Given the description of an element on the screen output the (x, y) to click on. 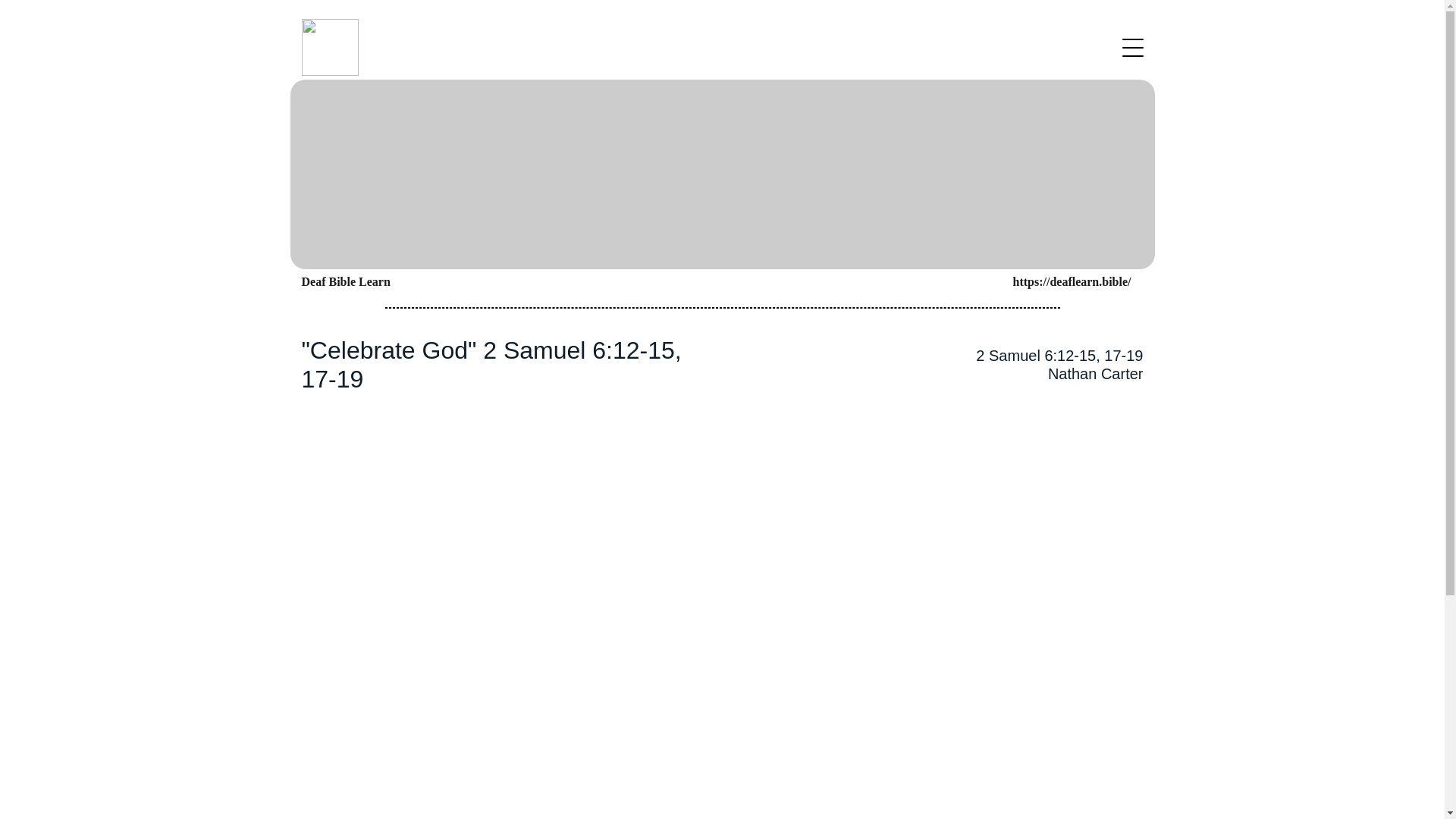
Deaf Bible Learn (345, 281)
